Given the description of an element on the screen output the (x, y) to click on. 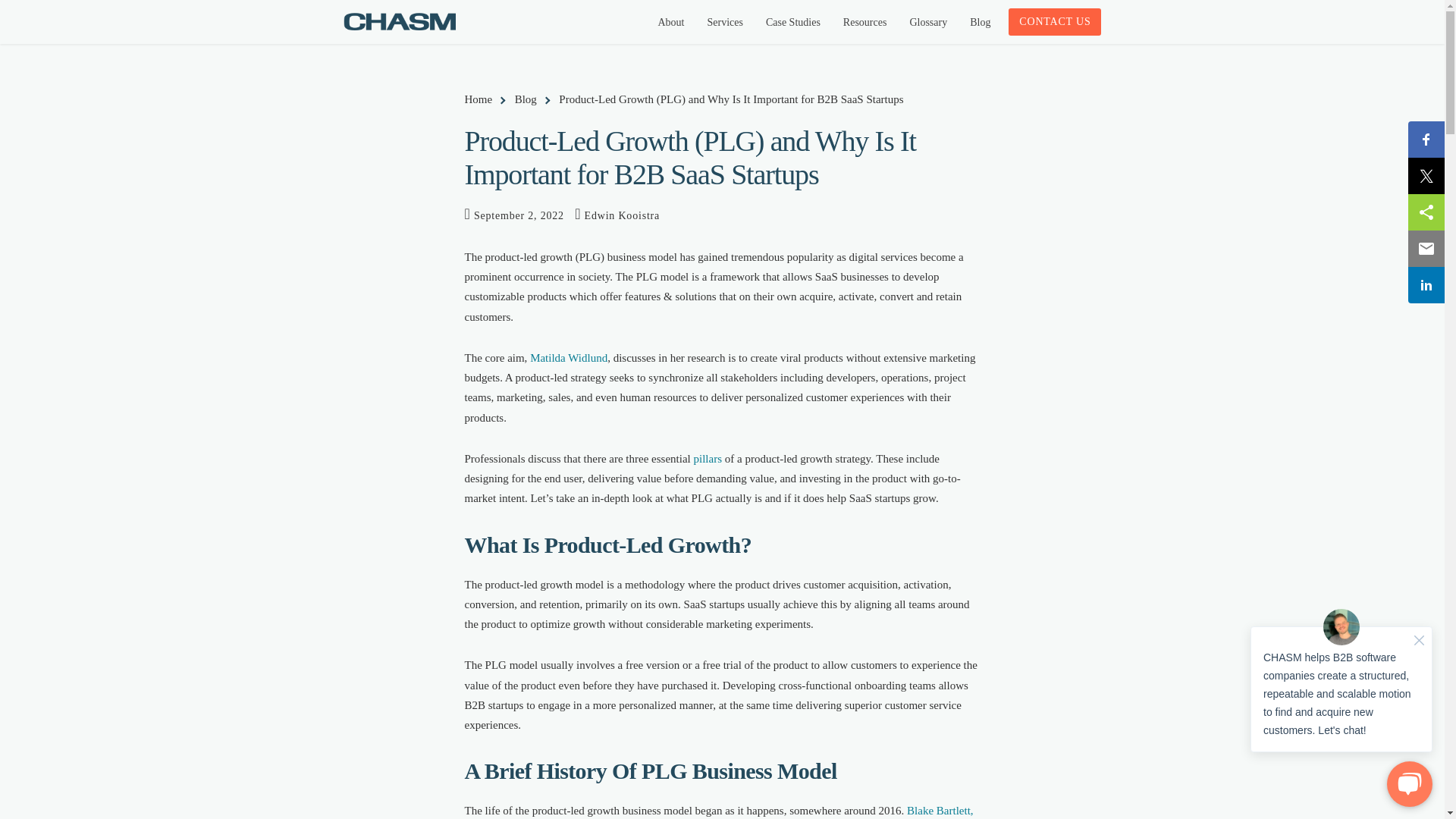
Home (480, 99)
CONTACT US (1054, 22)
Matilda Widlund (568, 357)
Glossary (928, 23)
Blake Bartlett, (939, 810)
Case Studies (792, 23)
About (670, 23)
Services (724, 23)
Blog (529, 99)
pillars (707, 458)
Resources (864, 23)
